Given the description of an element on the screen output the (x, y) to click on. 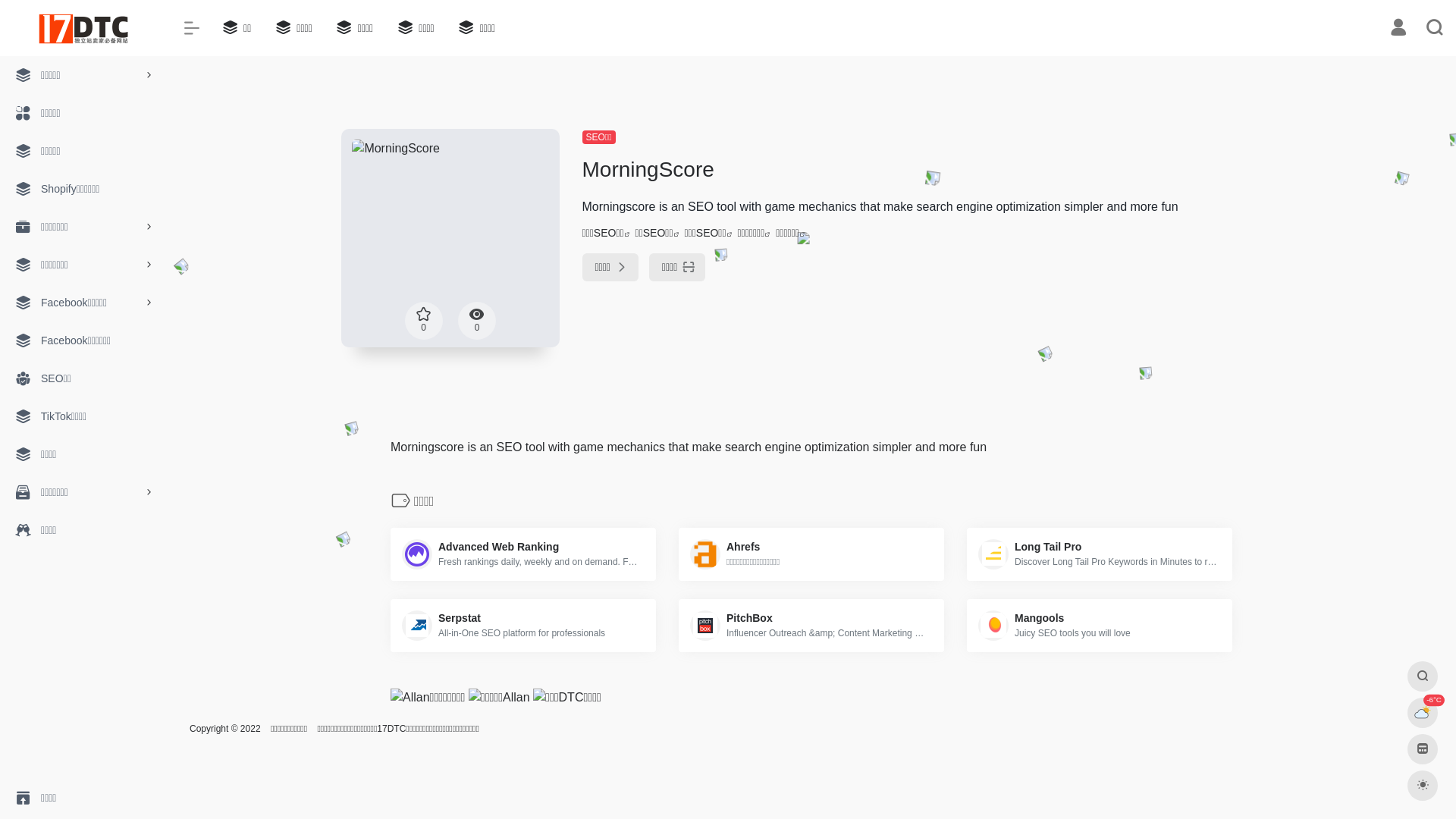
0 Element type: text (476, 320)
Serpstat
All-in-One SEO platform for professionals Element type: text (522, 625)
0 Element type: text (423, 320)
Mangools
Juicy SEO tools you will love Element type: text (1099, 625)
MorningScore Element type: hover (449, 237)
